Given the description of an element on the screen output the (x, y) to click on. 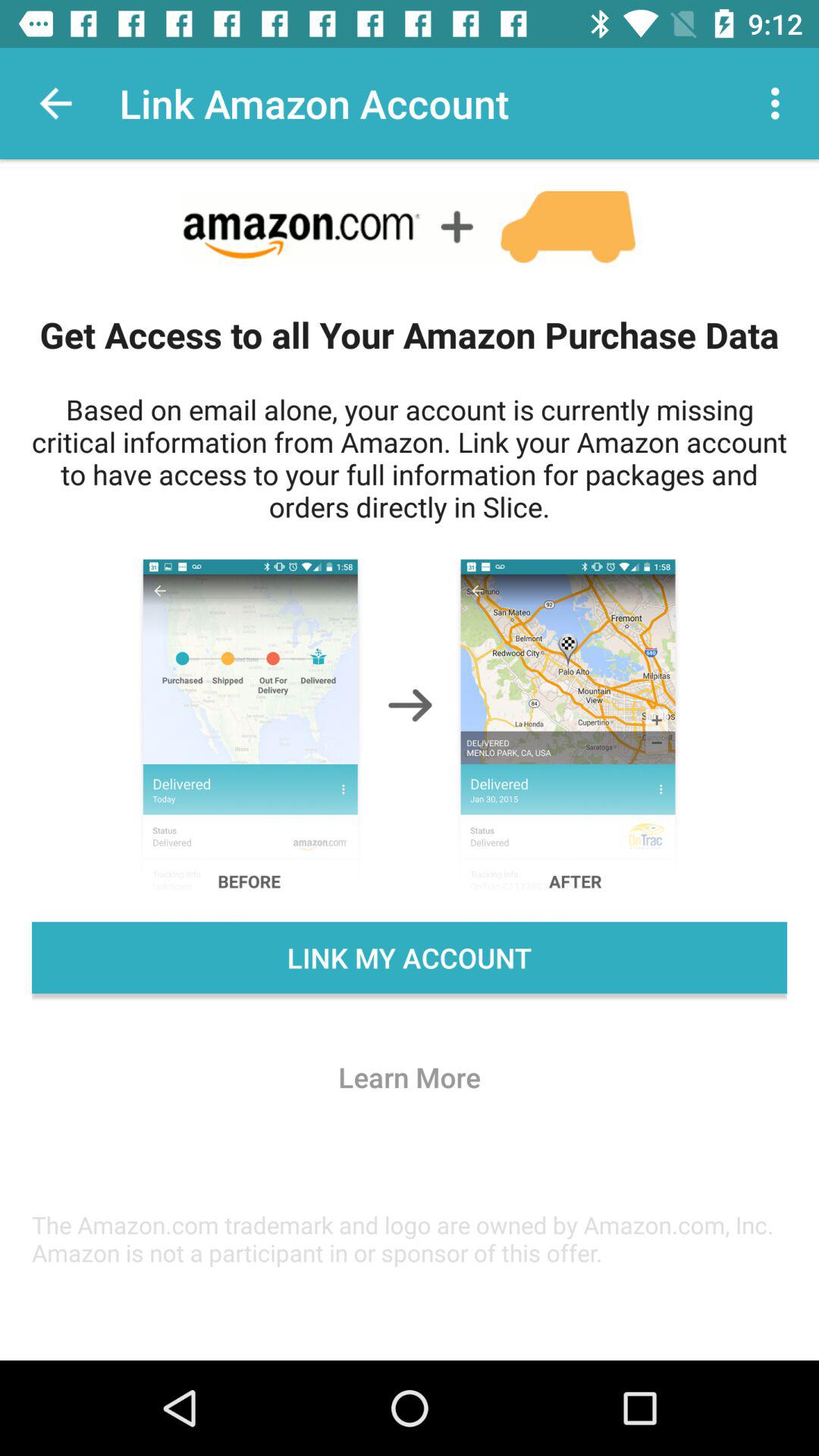
open the app to the right of link amazon account item (779, 103)
